Given the description of an element on the screen output the (x, y) to click on. 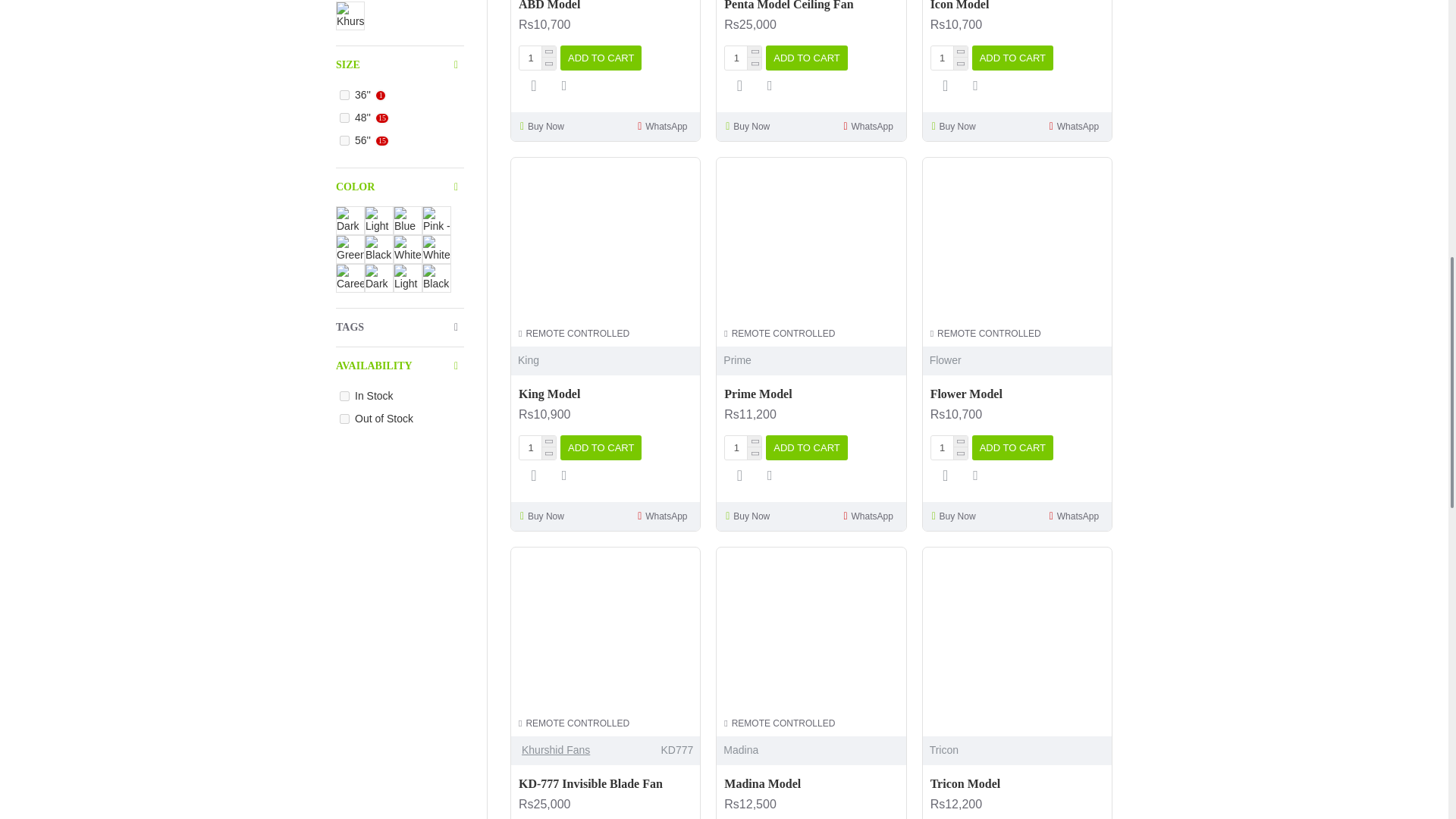
1 (949, 447)
1 (344, 396)
59 (344, 94)
1 (537, 447)
1 (743, 57)
1 (949, 57)
0 (344, 419)
1 (537, 57)
46 (344, 117)
47 (344, 140)
